Given the description of an element on the screen output the (x, y) to click on. 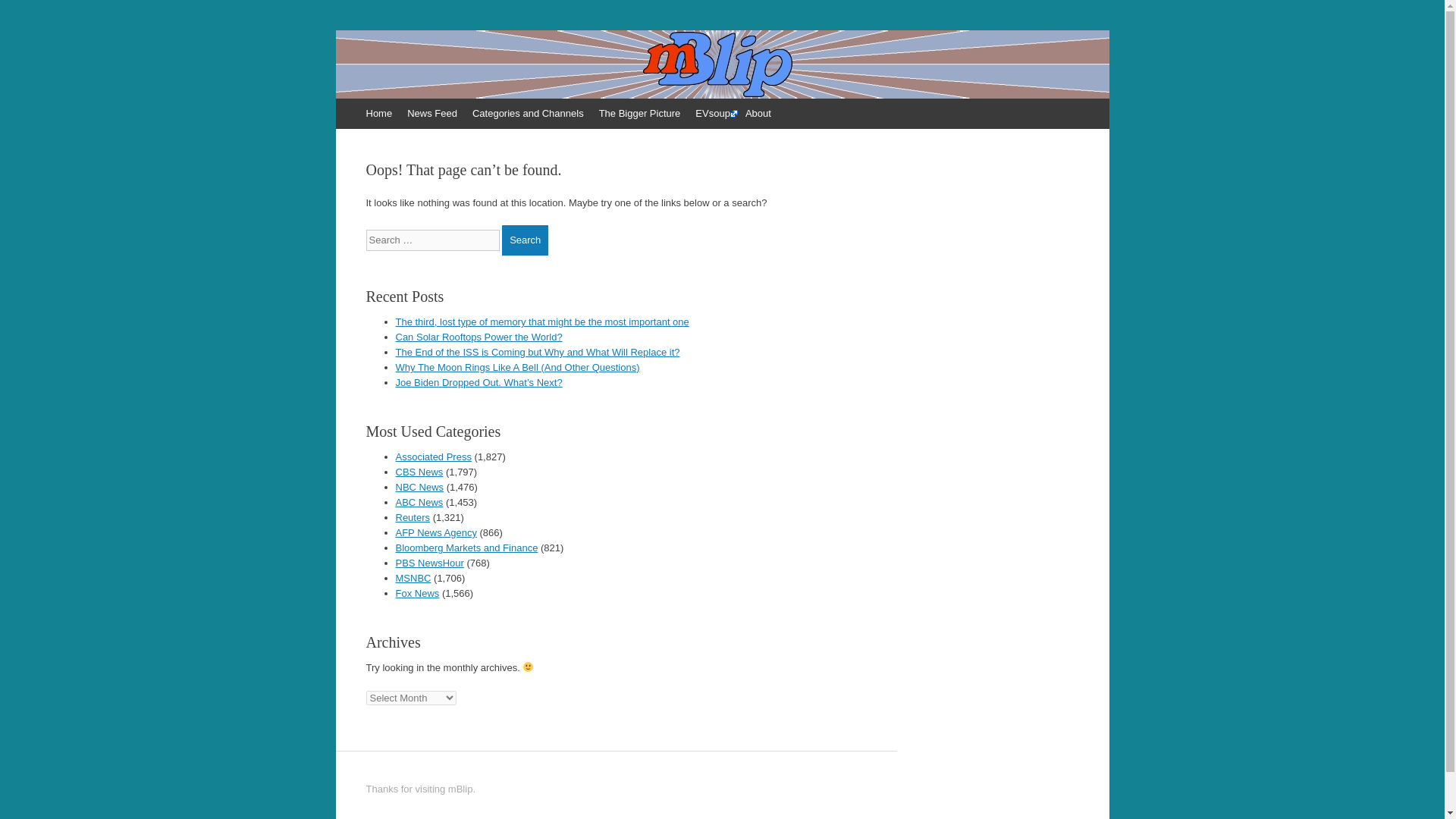
mBlip (397, 80)
EVsoup (712, 113)
MSNBC (413, 577)
CBS News (420, 471)
Reuters (413, 517)
Can Solar Rooftops Power the World? (479, 337)
Home (378, 113)
About (758, 113)
News Feed (431, 113)
mBlip (397, 80)
Categories and Channels (527, 113)
ABC News (420, 501)
Search (525, 240)
AFP News Agency (436, 532)
